Given the description of an element on the screen output the (x, y) to click on. 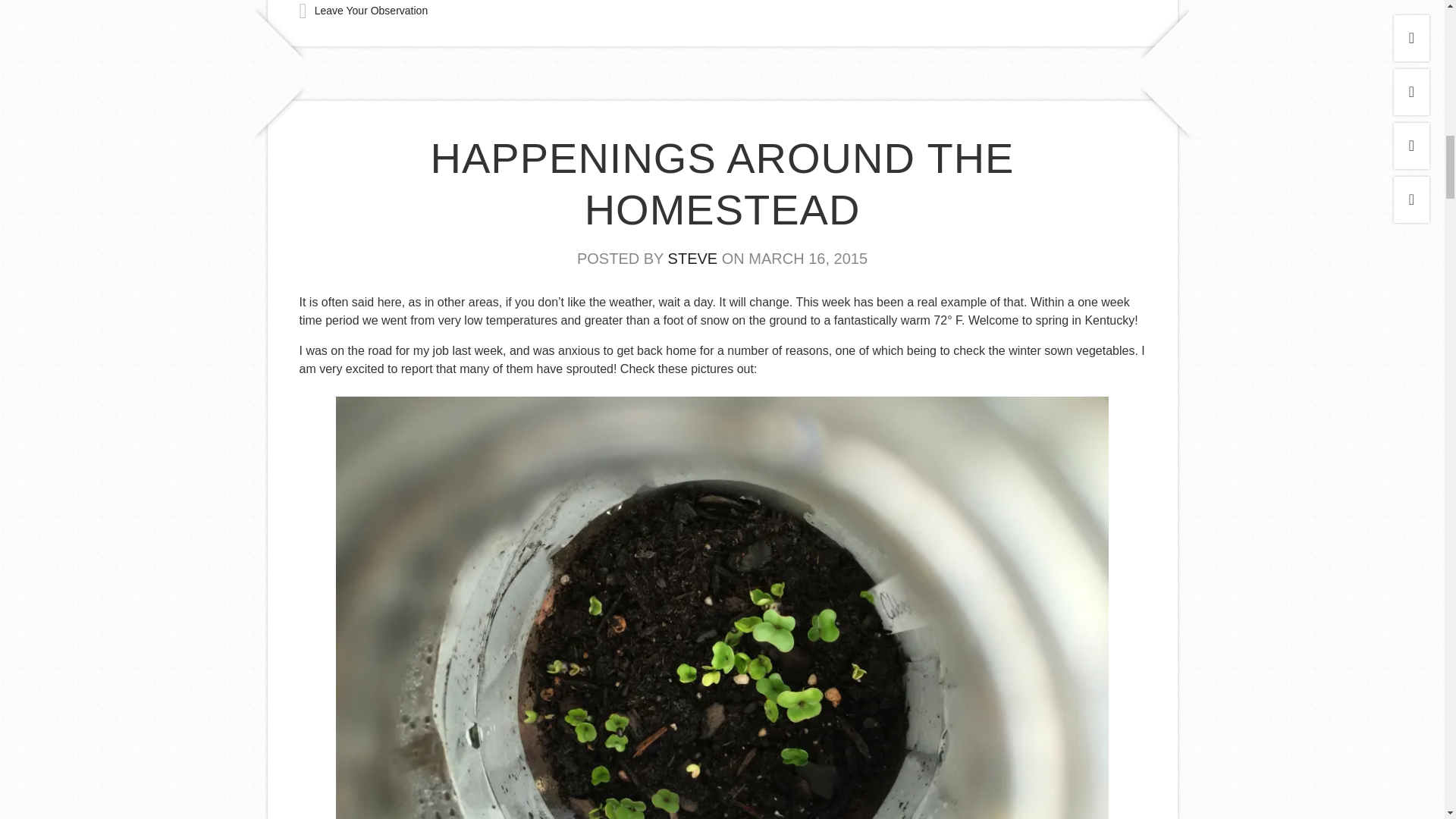
STEVE (692, 258)
Leave Your Observation (371, 10)
HAPPENINGS AROUND THE HOMESTEAD (722, 184)
